Given the description of an element on the screen output the (x, y) to click on. 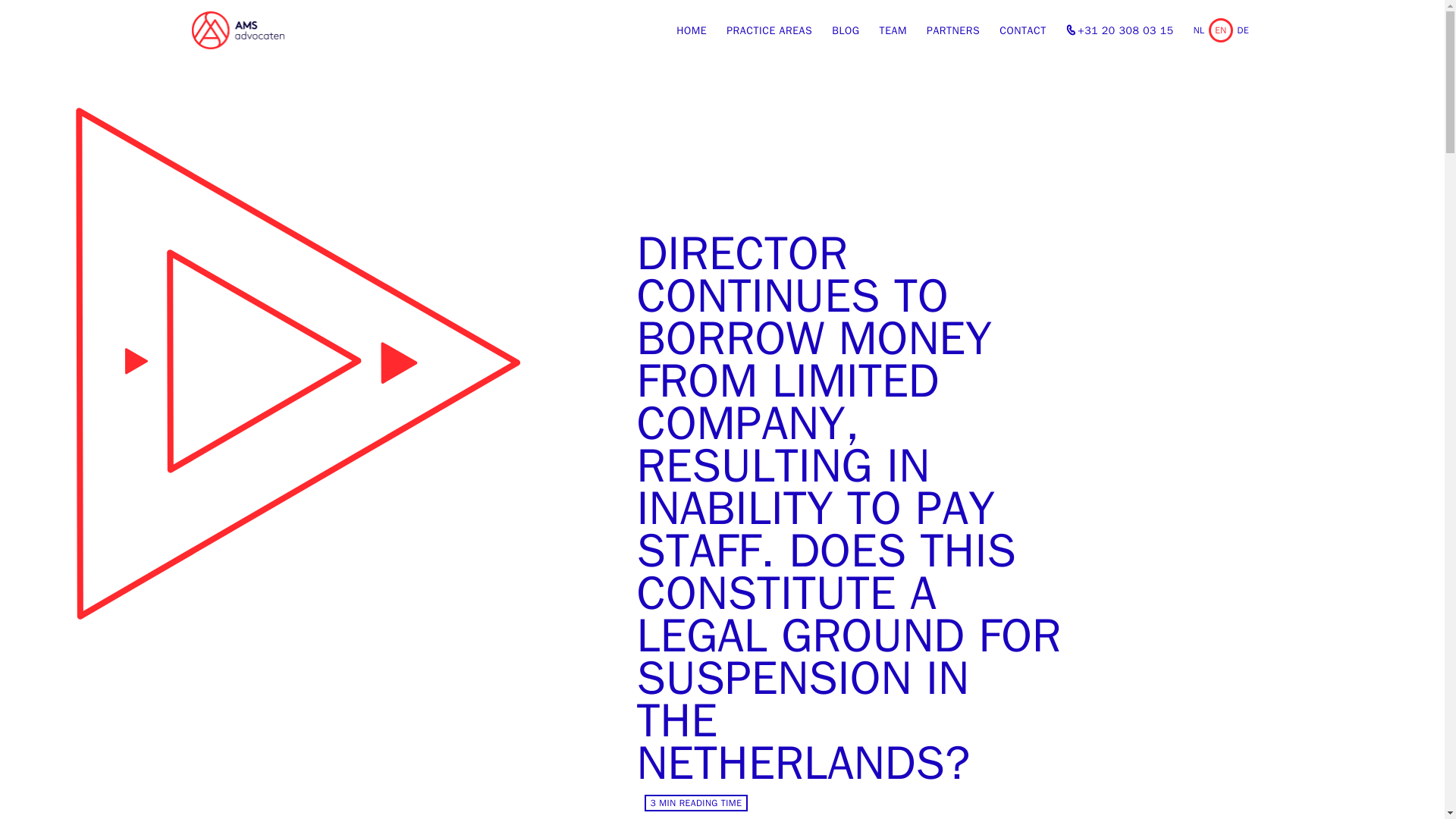
HOME (691, 30)
CONTACT (1022, 30)
EN (1220, 30)
BLOG (845, 30)
PRACTICE AREAS (769, 30)
PARTNERS (952, 30)
TEAM (893, 30)
